Given the description of an element on the screen output the (x, y) to click on. 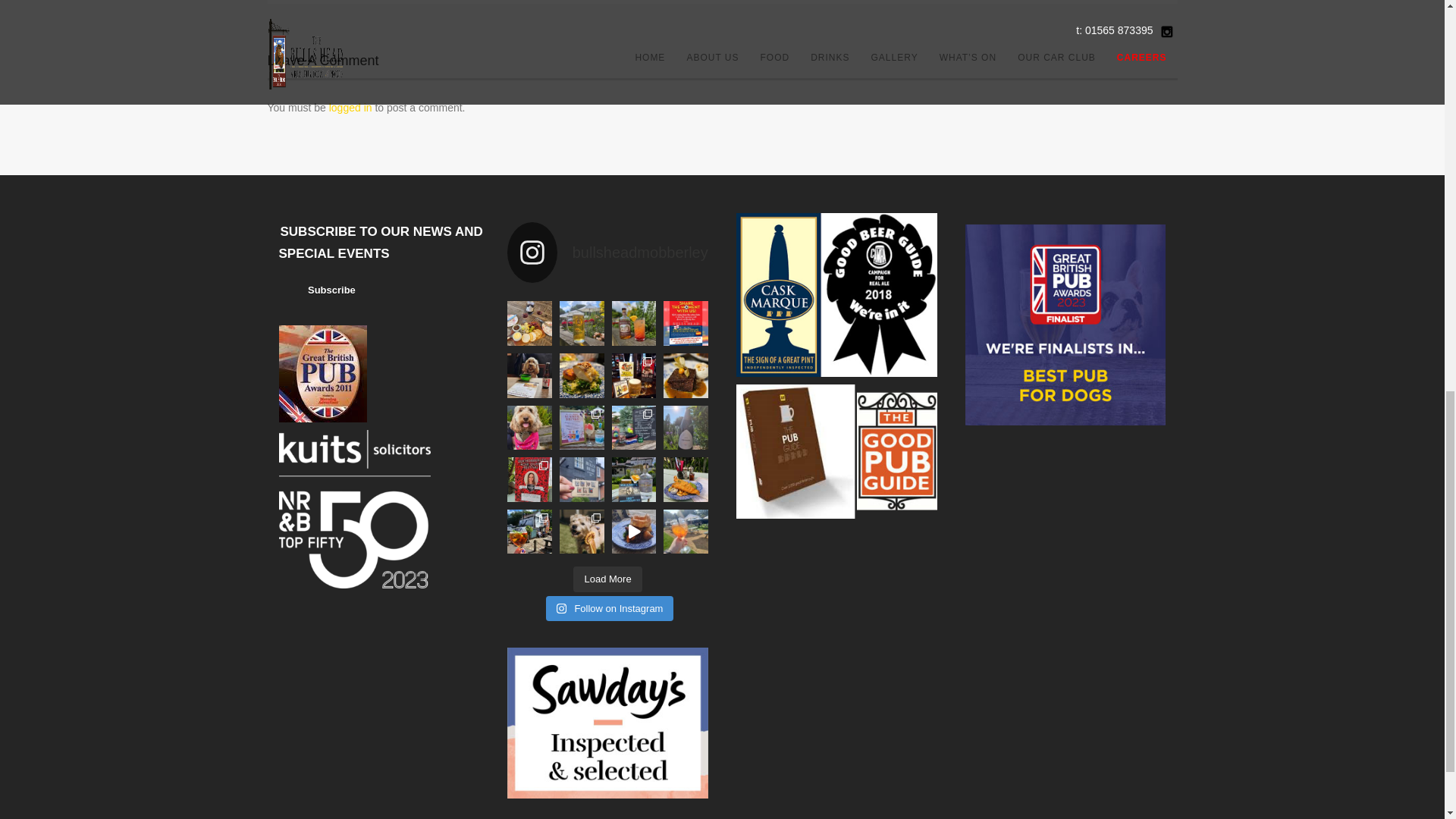
Preview (320, 290)
